Given the description of an element on the screen output the (x, y) to click on. 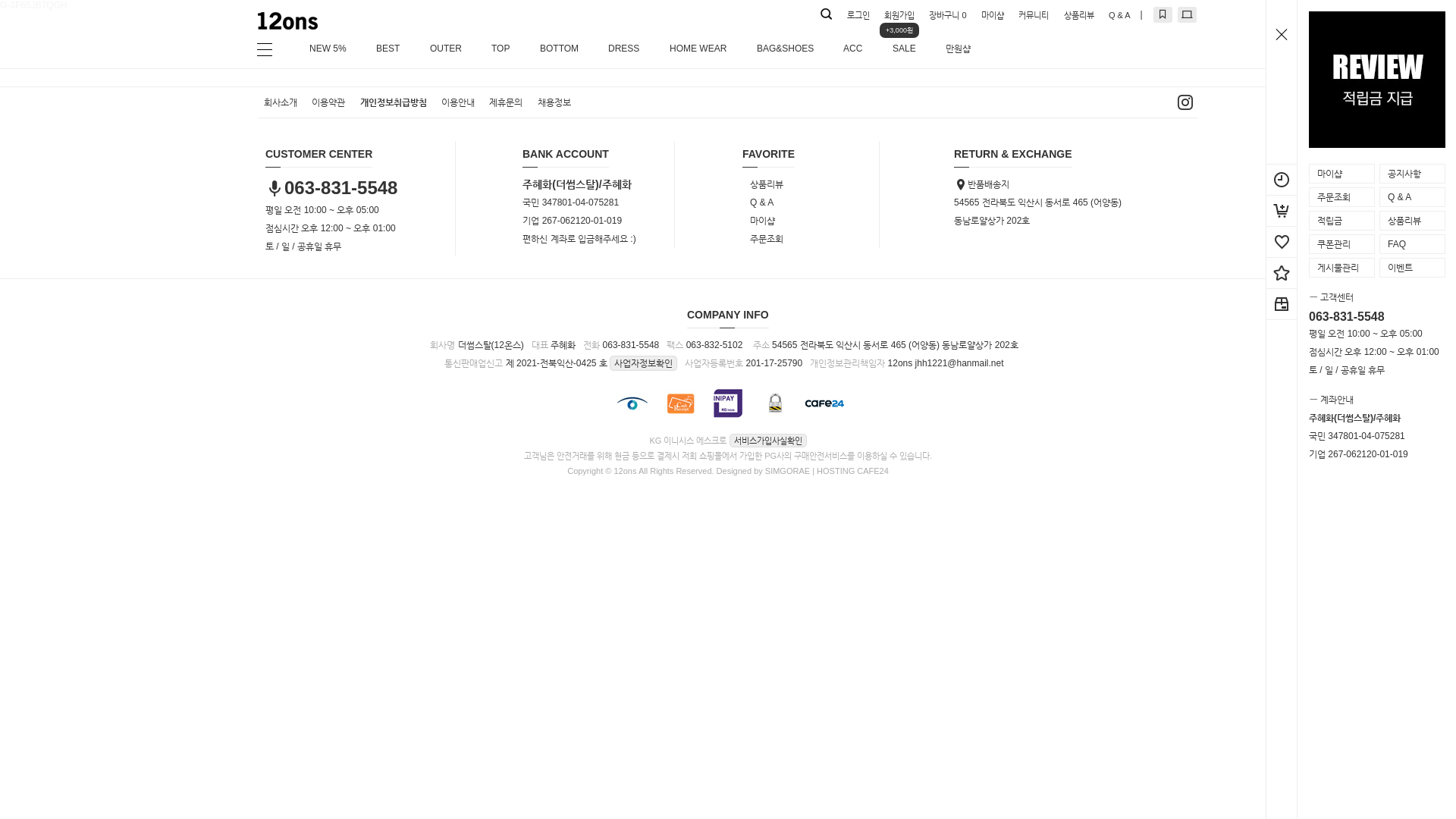
Q & A Element type: text (768, 202)
Q & A Element type: text (1412, 197)
BOTTOM Element type: text (559, 48)
FAQ Element type: text (1412, 244)
TOP Element type: text (500, 48)
DRESS Element type: text (623, 48)
HOME WEAR Element type: text (697, 48)
Q & A Element type: text (1119, 14)
BEST Element type: text (387, 48)
NEW 5% Element type: text (327, 48)
12ons jhh1221@hanmail.net Element type: text (946, 362)
BAG&SHOES Element type: text (785, 48)
OUTER Element type: text (445, 48)
SALE Element type: text (903, 48)
ACC Element type: text (852, 48)
